Given the description of an element on the screen output the (x, y) to click on. 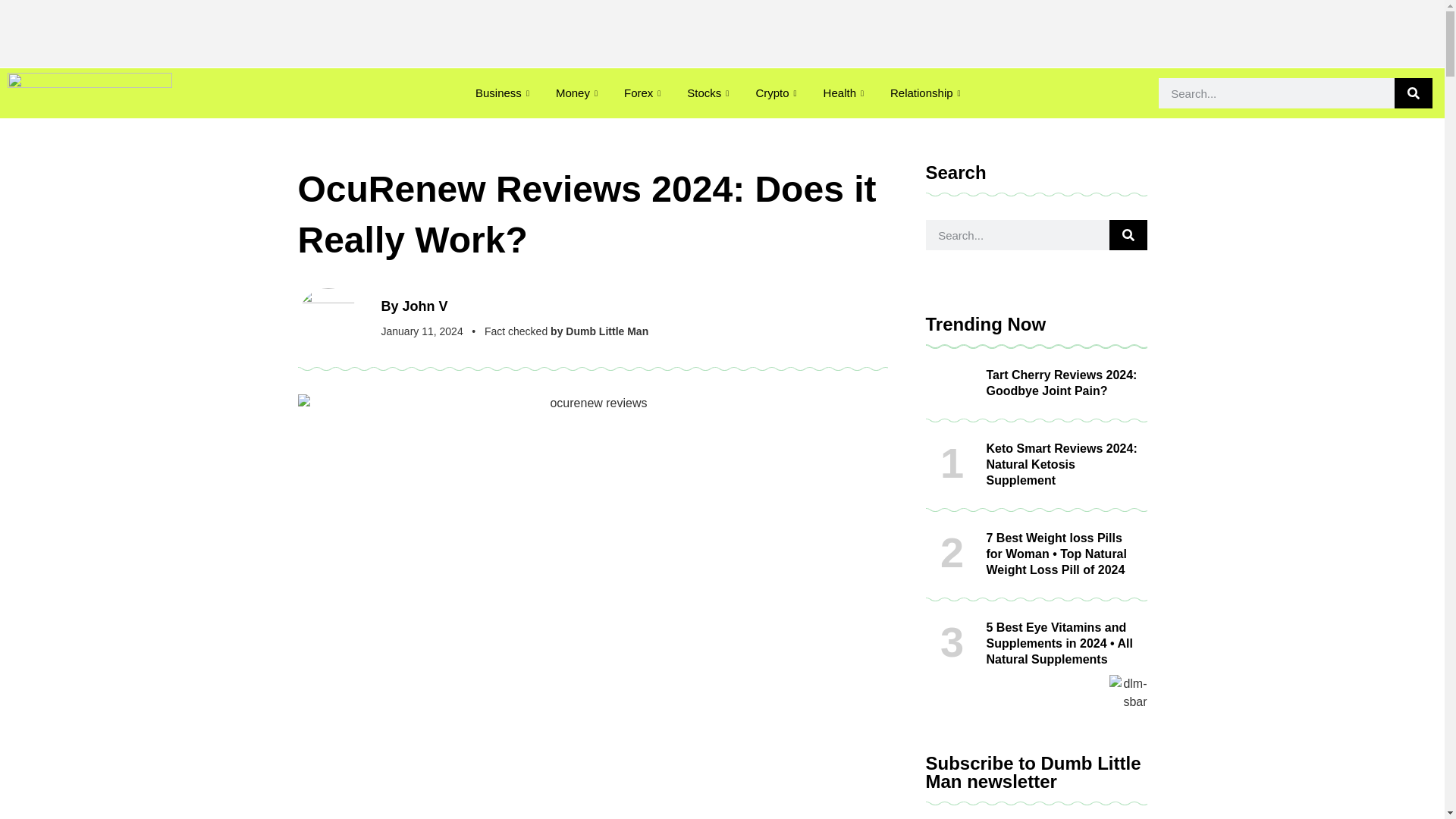
Business (504, 92)
